Given the description of an element on the screen output the (x, y) to click on. 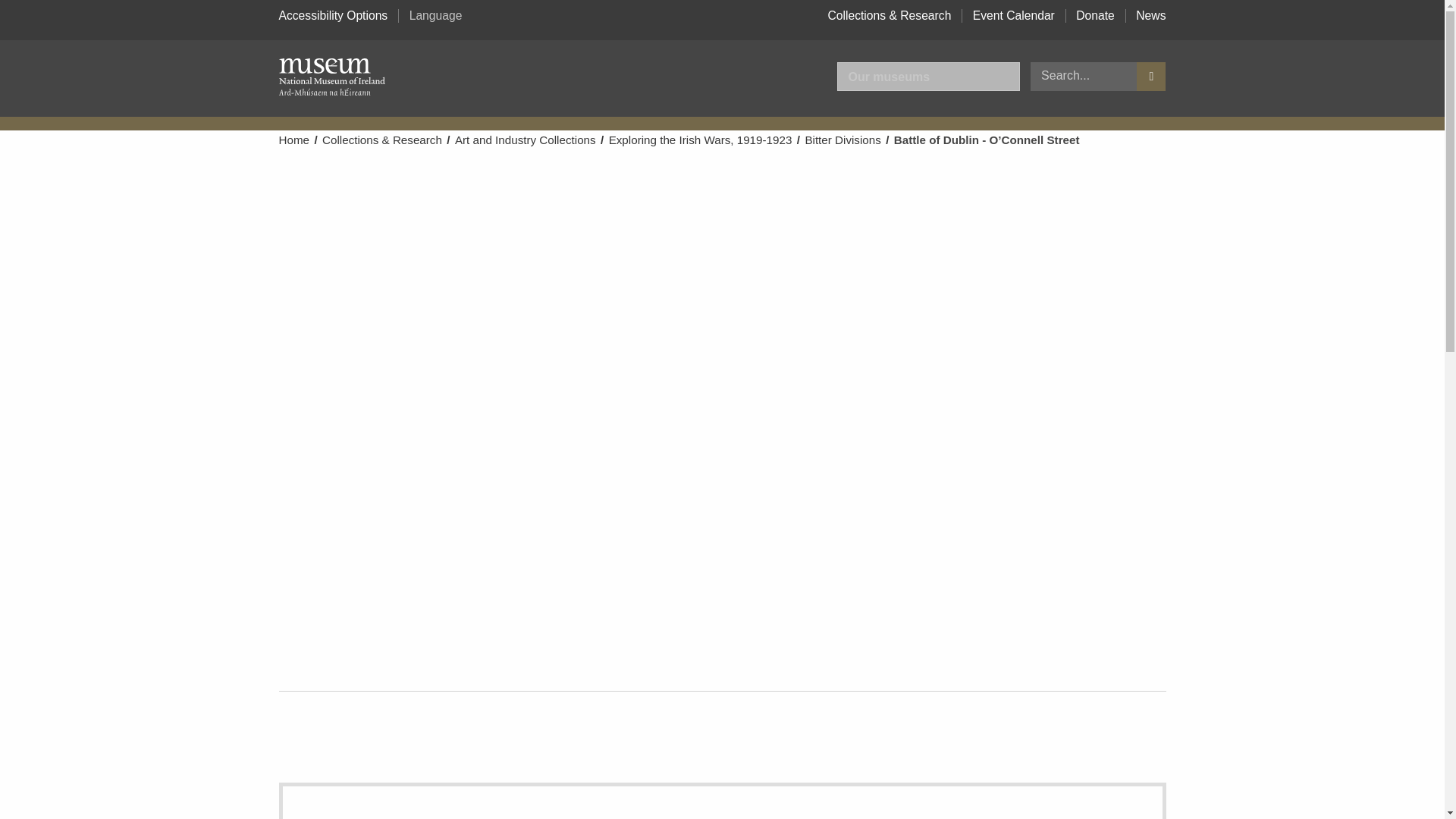
HE:EWL.389 (722, 800)
News (1150, 15)
Accessibility Options (333, 15)
Search (1151, 76)
Donate (1095, 15)
Event Calendar (1013, 15)
